Given the description of an element on the screen output the (x, y) to click on. 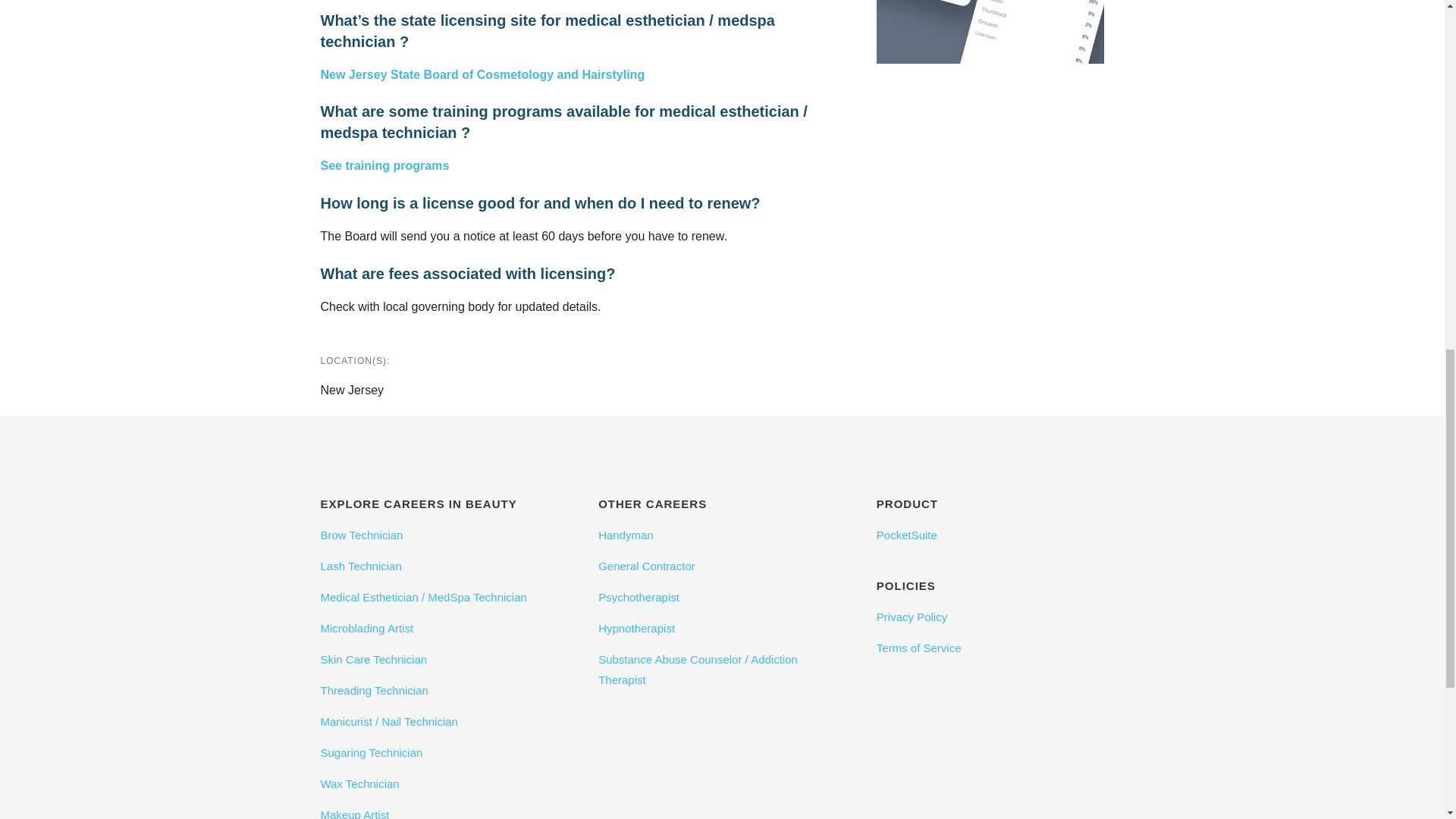
Brow Technician (443, 534)
PocketSuite (1000, 534)
Lash Technician (443, 565)
See training programs (384, 164)
New Jersey State Board of Cosmetology and Hairstyling (482, 74)
Sugaring Technician (443, 752)
Microblading Artist (443, 627)
Privacy Policy (1000, 616)
Terms of Service (1000, 647)
Hypnotherapist (721, 627)
